Given the description of an element on the screen output the (x, y) to click on. 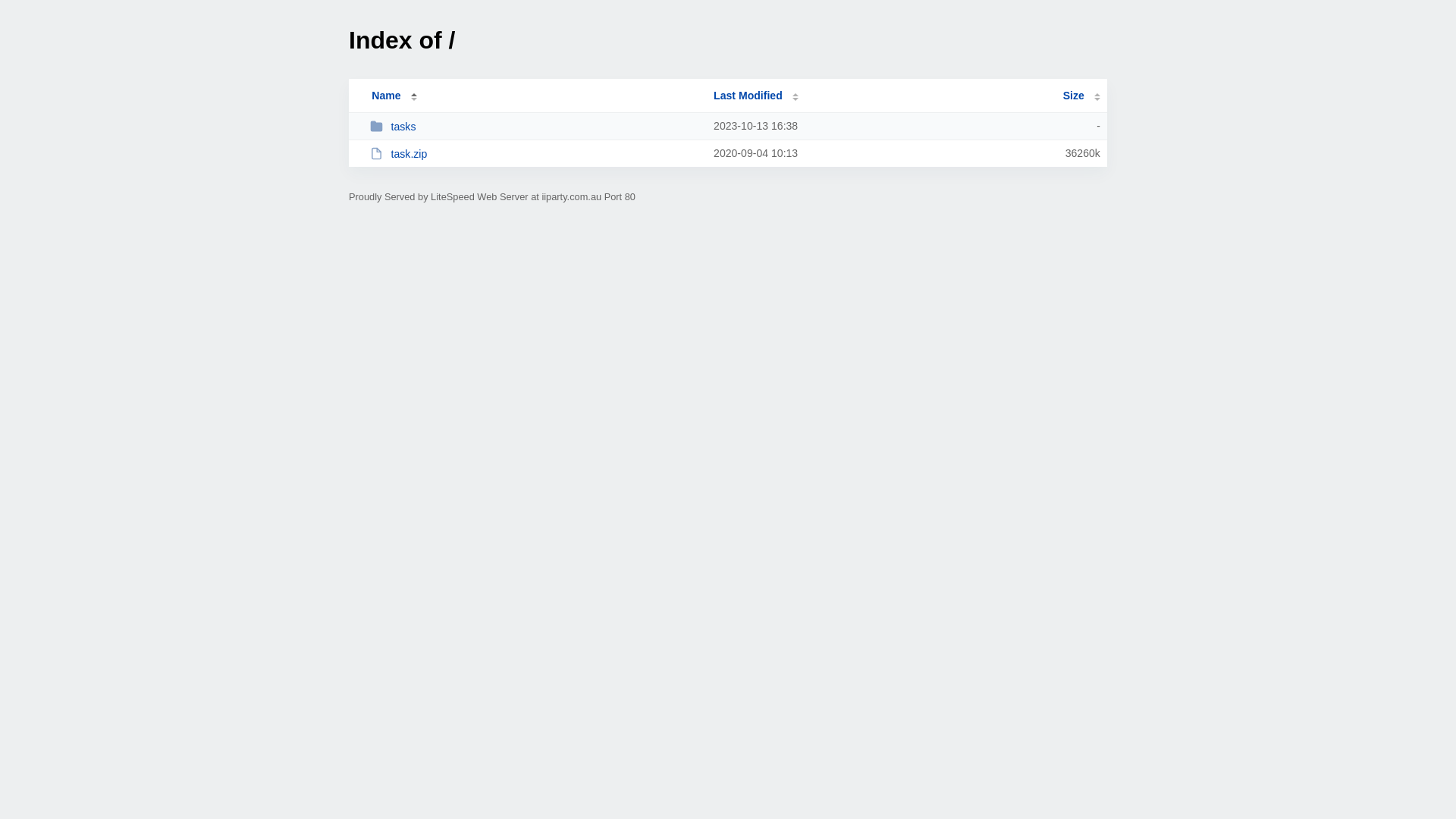
tasks Element type: text (534, 125)
task.zip Element type: text (534, 153)
Last Modified Element type: text (755, 95)
Name Element type: text (385, 95)
Size Element type: text (1081, 95)
